Given the description of an element on the screen output the (x, y) to click on. 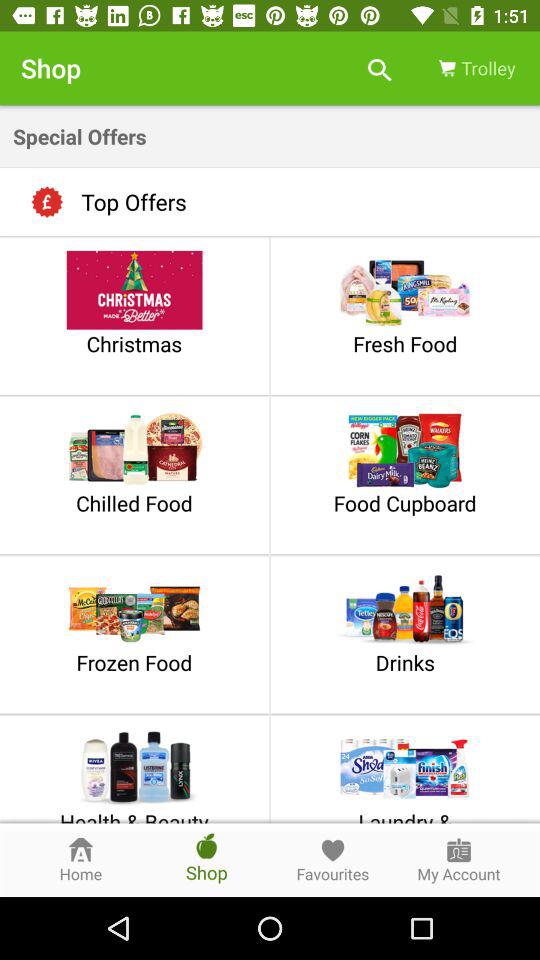
open item above special offers item (475, 68)
